Given the description of an element on the screen output the (x, y) to click on. 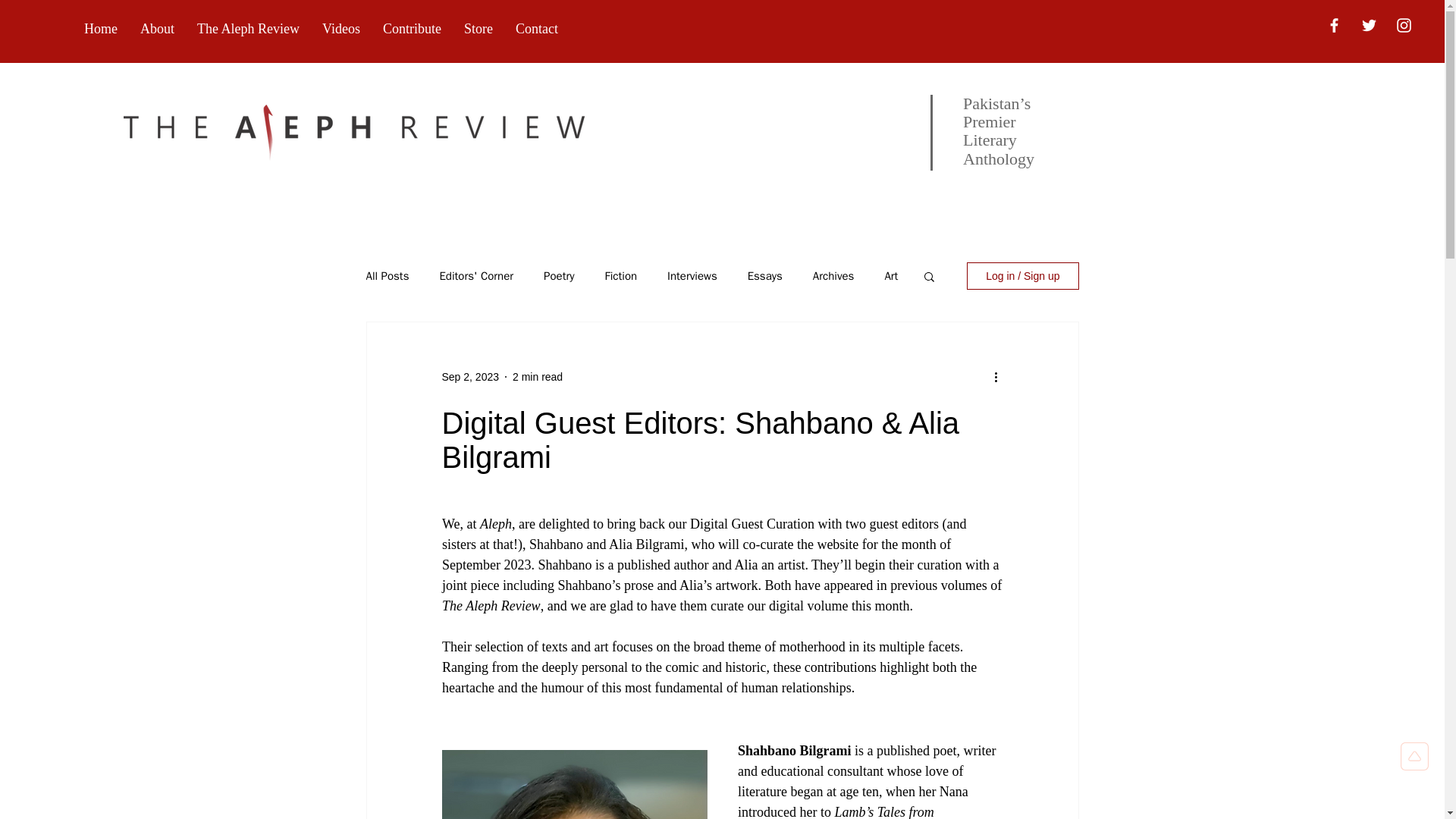
2 min read (537, 376)
Essays (765, 275)
Aleph Review Logo.png (354, 132)
About (157, 28)
All Posts (387, 275)
Interviews (691, 275)
Home (100, 28)
Store (477, 28)
The Aleph Review (248, 28)
Art (890, 275)
